Given the description of an element on the screen output the (x, y) to click on. 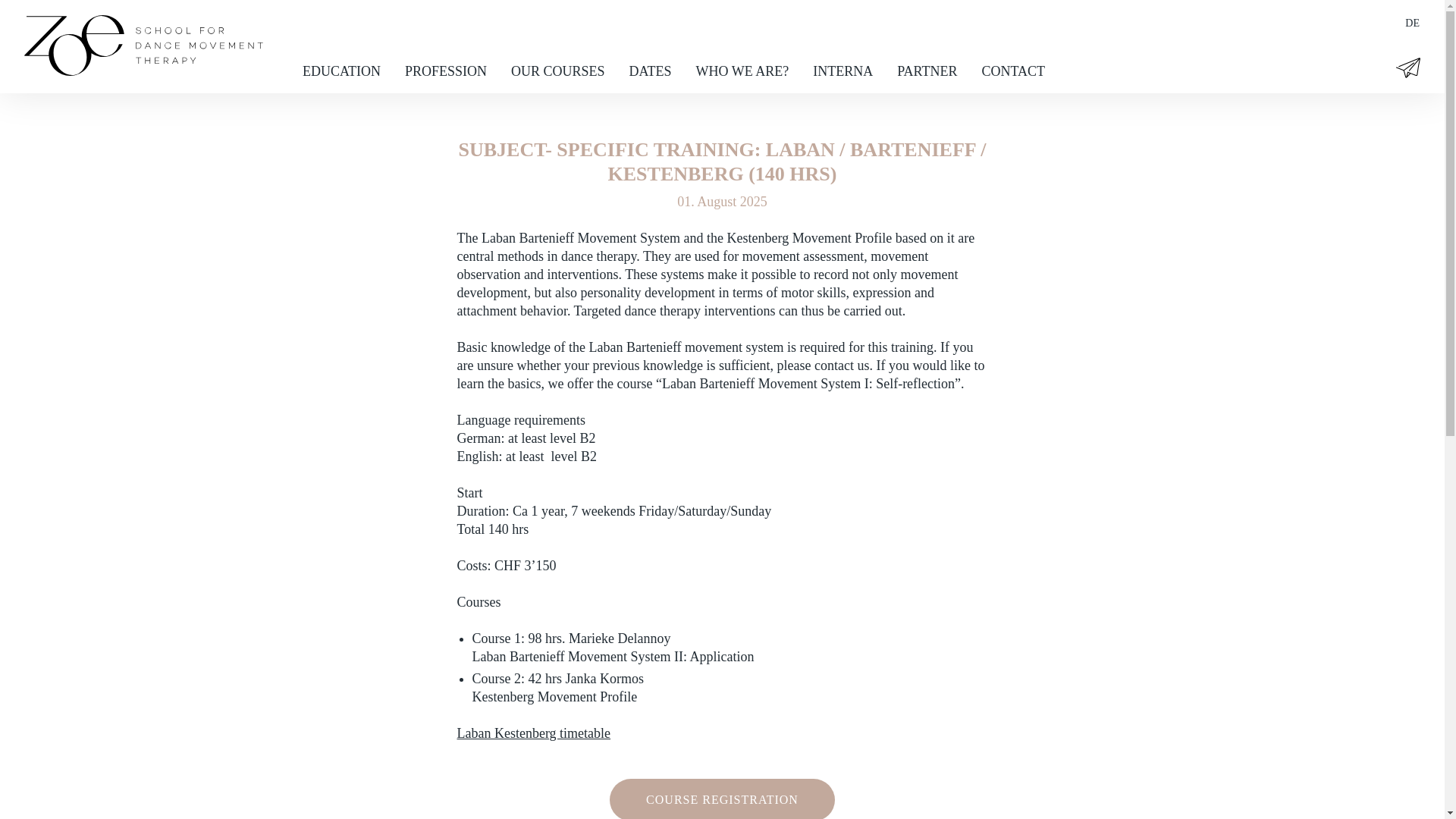
ZOE (143, 71)
EDUCATION (341, 71)
